Given the description of an element on the screen output the (x, y) to click on. 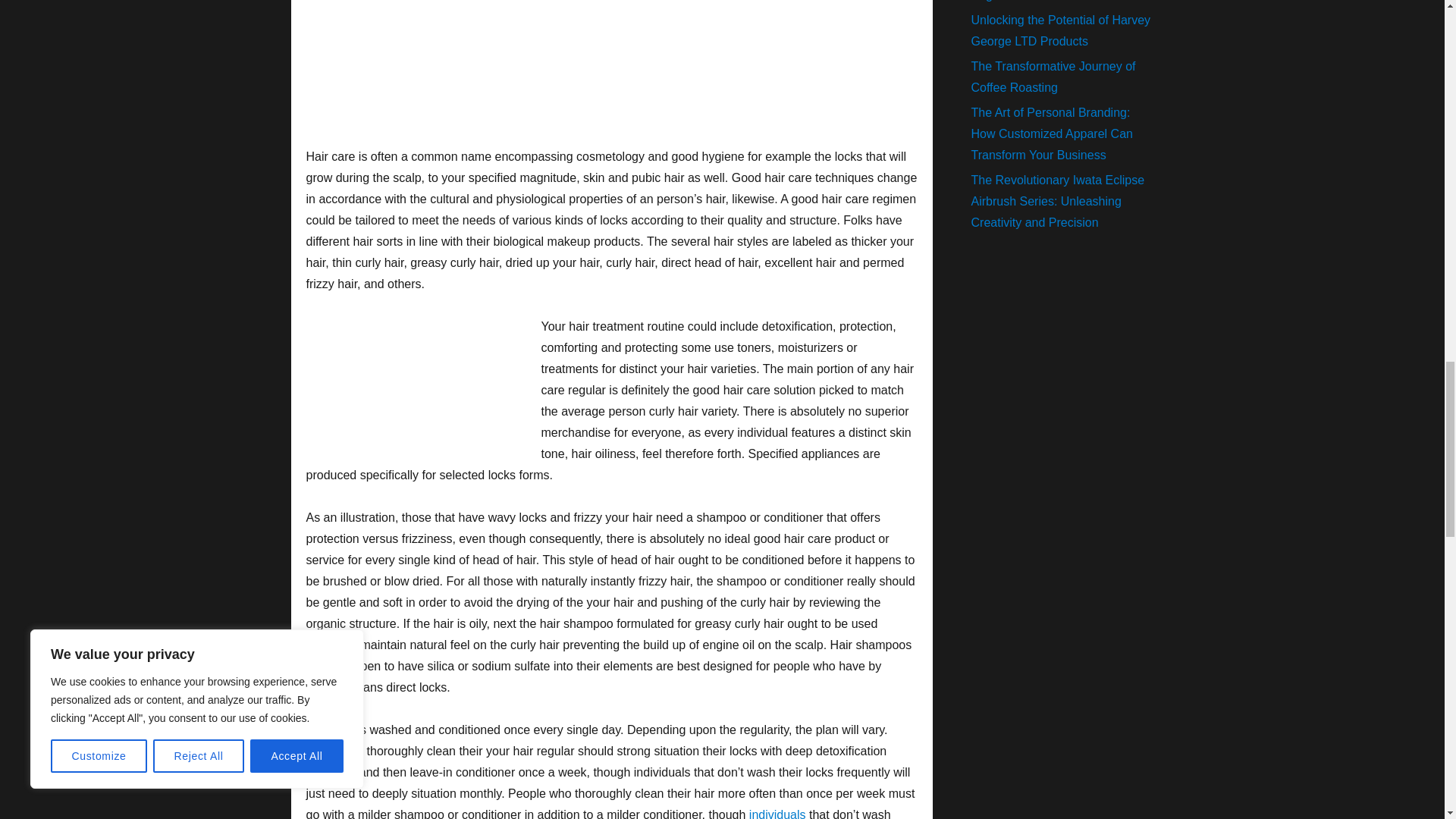
individuals (777, 813)
